Given the description of an element on the screen output the (x, y) to click on. 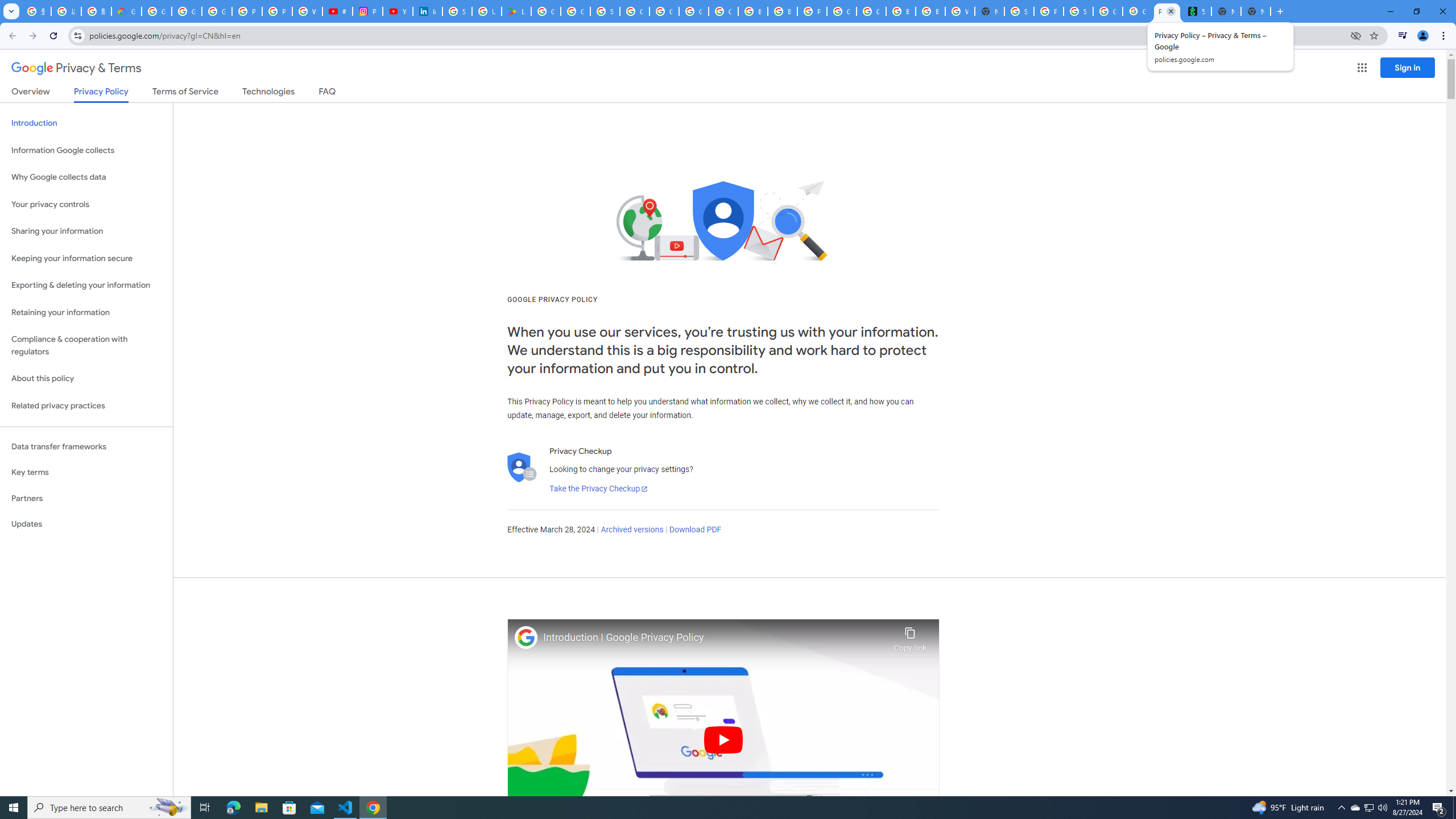
Browse Chrome as a guest - Computer - Google Chrome Help (782, 11)
Introduction (86, 122)
Sharing your information (86, 230)
Copy link (909, 636)
Archived versions (631, 529)
Sign in - Google Accounts (456, 11)
Related privacy practices (86, 405)
Privacy Help Center - Policies Help (277, 11)
